Given the description of an element on the screen output the (x, y) to click on. 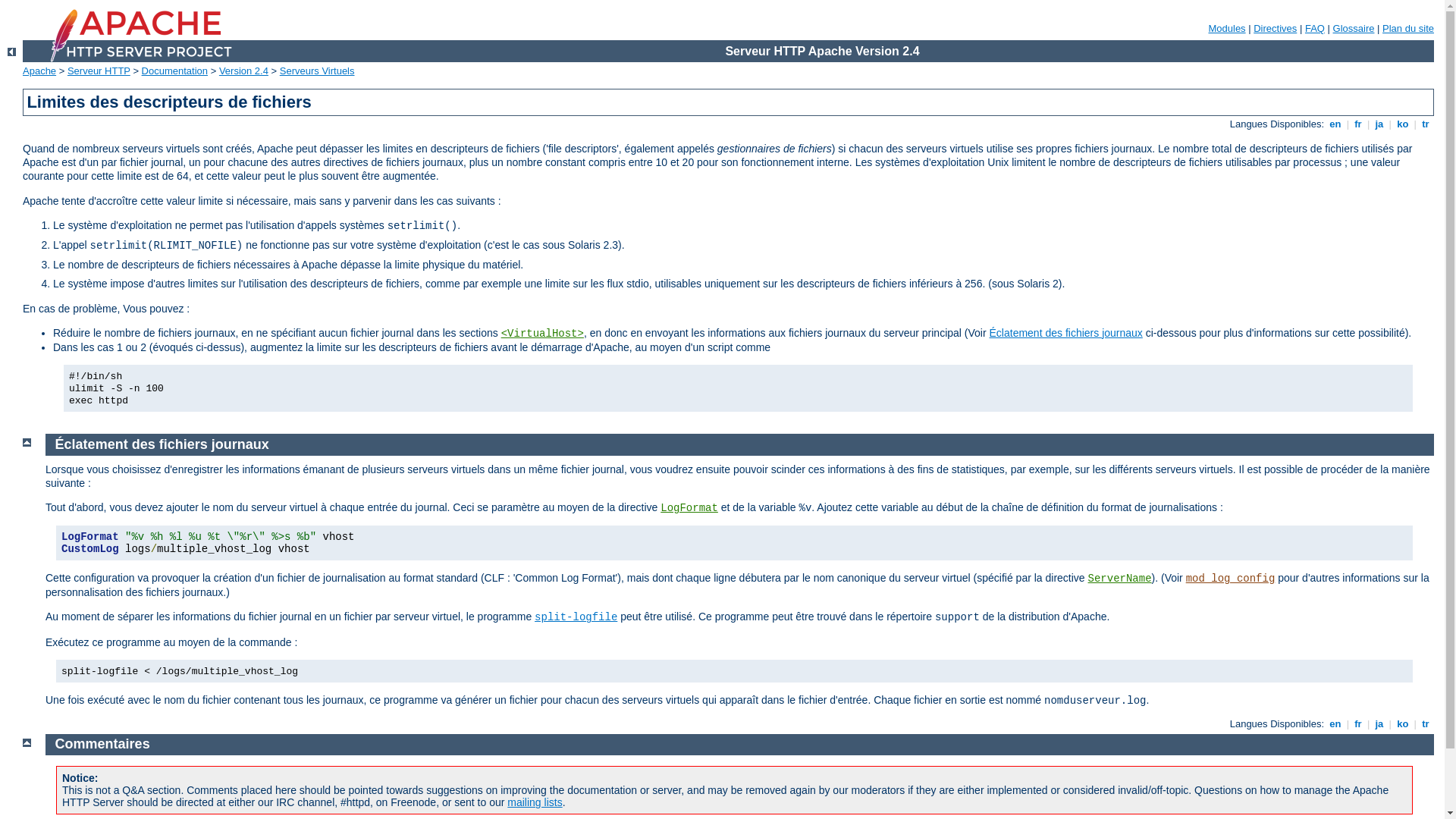
Serveur HTTP Element type: text (98, 70)
Apache Element type: text (39, 70)
 tr  Element type: text (1425, 723)
Commentaires Element type: text (102, 743)
LogFormat Element type: text (689, 508)
split-logfile Element type: text (575, 617)
Documentation Element type: text (174, 70)
 ko  Element type: text (1402, 723)
Version 2.4 Element type: text (243, 70)
 fr  Element type: text (1358, 123)
 tr  Element type: text (1425, 123)
mod_log_config Element type: text (1230, 578)
<- Element type: hover (11, 51)
Modules Element type: text (1226, 28)
<VirtualHost> Element type: text (542, 333)
 en  Element type: text (1335, 123)
Plan du site Element type: text (1408, 28)
 en  Element type: text (1335, 723)
Serveurs Virtuels Element type: text (316, 70)
ServerName Element type: text (1119, 578)
mailing lists Element type: text (534, 802)
 ja  Element type: text (1379, 123)
 fr  Element type: text (1358, 723)
Glossaire Element type: text (1353, 28)
 ko  Element type: text (1402, 123)
FAQ Element type: text (1314, 28)
Directives Element type: text (1274, 28)
 ja  Element type: text (1379, 723)
